Given the description of an element on the screen output the (x, y) to click on. 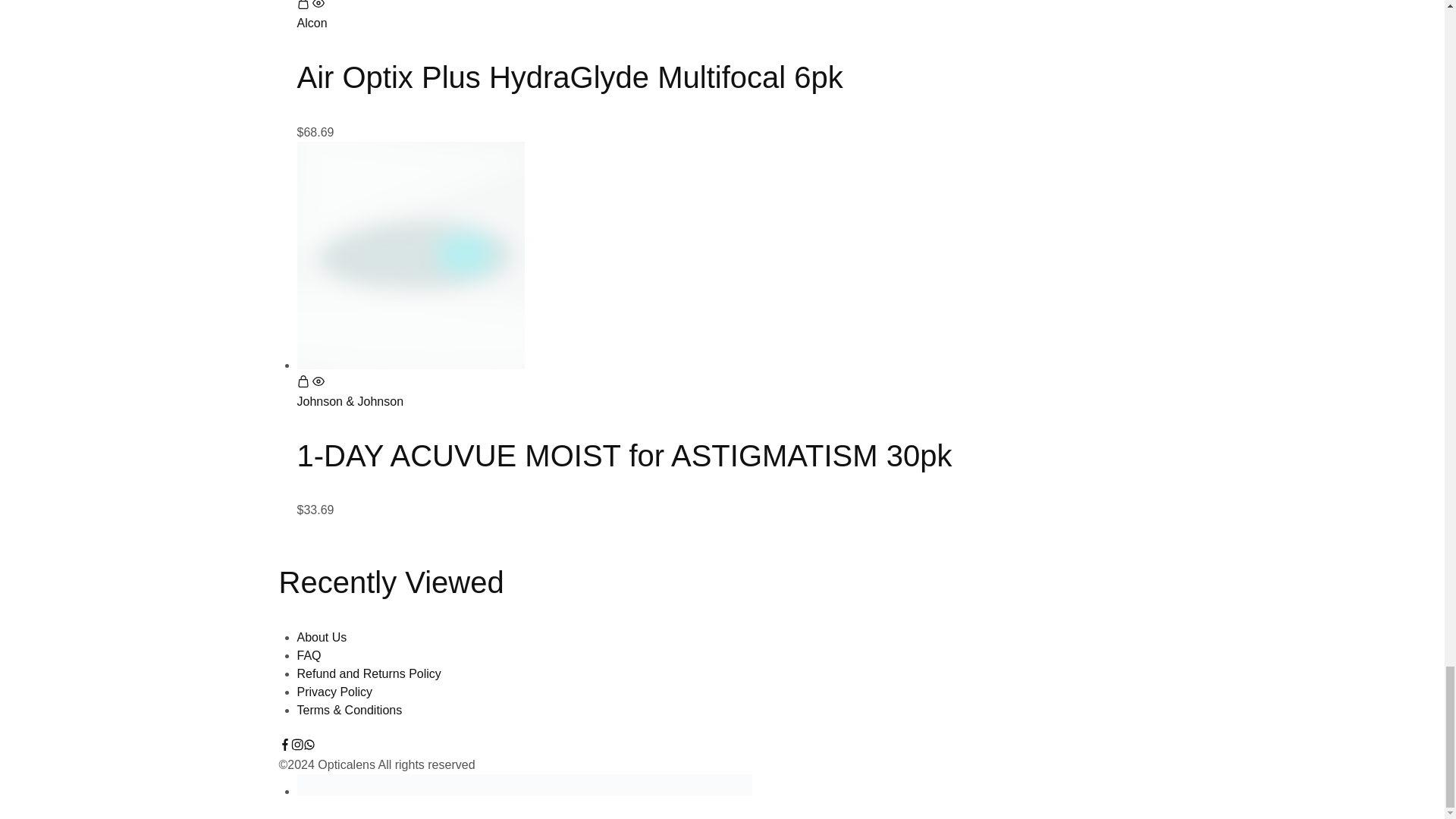
Facebook (285, 746)
Whatsapp (308, 746)
Instagram (296, 746)
